Given the description of an element on the screen output the (x, y) to click on. 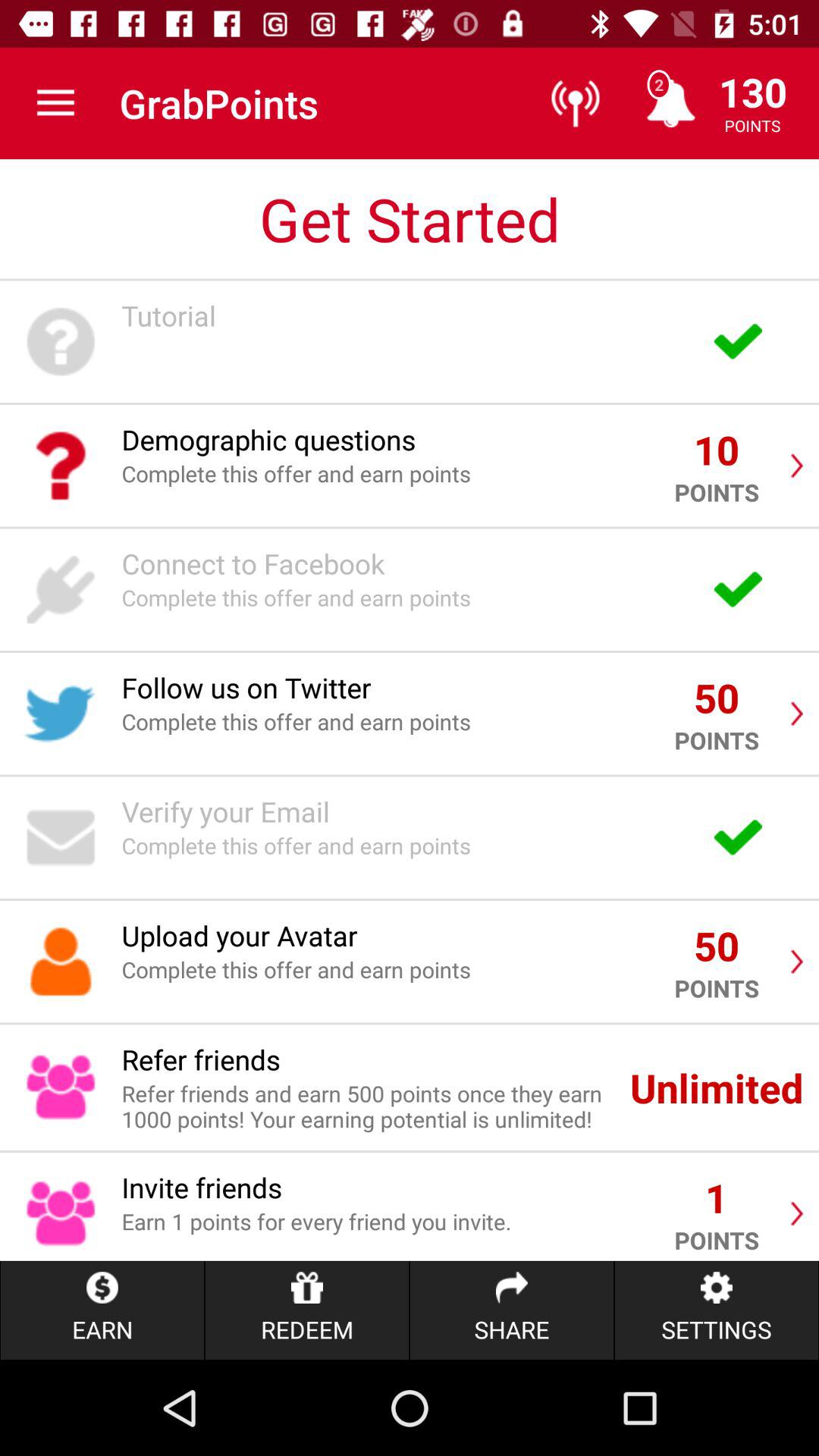
tap item next to settings (511, 1310)
